Given the description of an element on the screen output the (x, y) to click on. 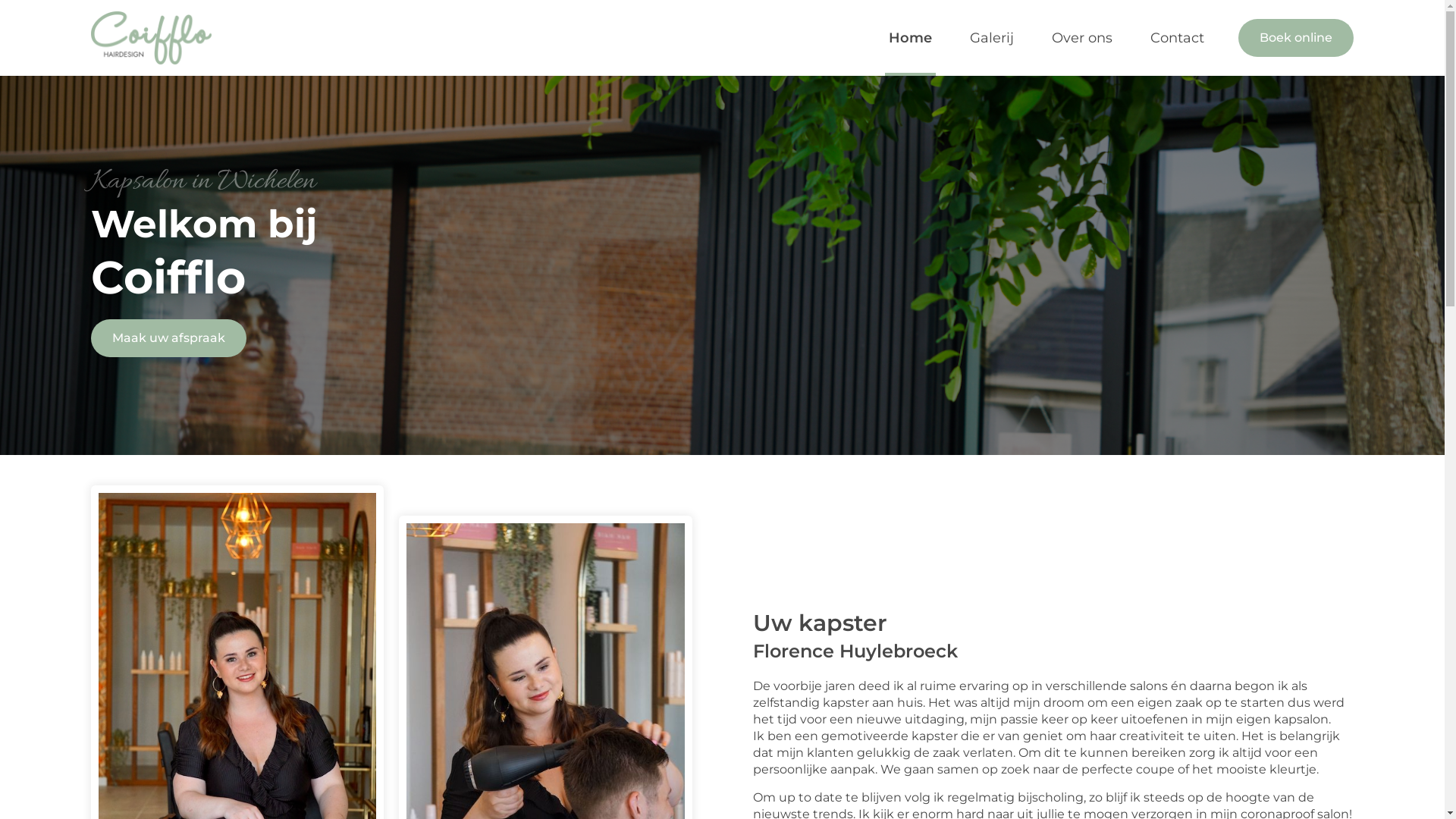
Galerij Element type: text (991, 37)
Maak uw afspraak Element type: text (168, 338)
Boek online Element type: text (1295, 37)
Over ons Element type: text (1082, 37)
Home Element type: text (909, 37)
Contact Element type: text (1177, 37)
